Given the description of an element on the screen output the (x, y) to click on. 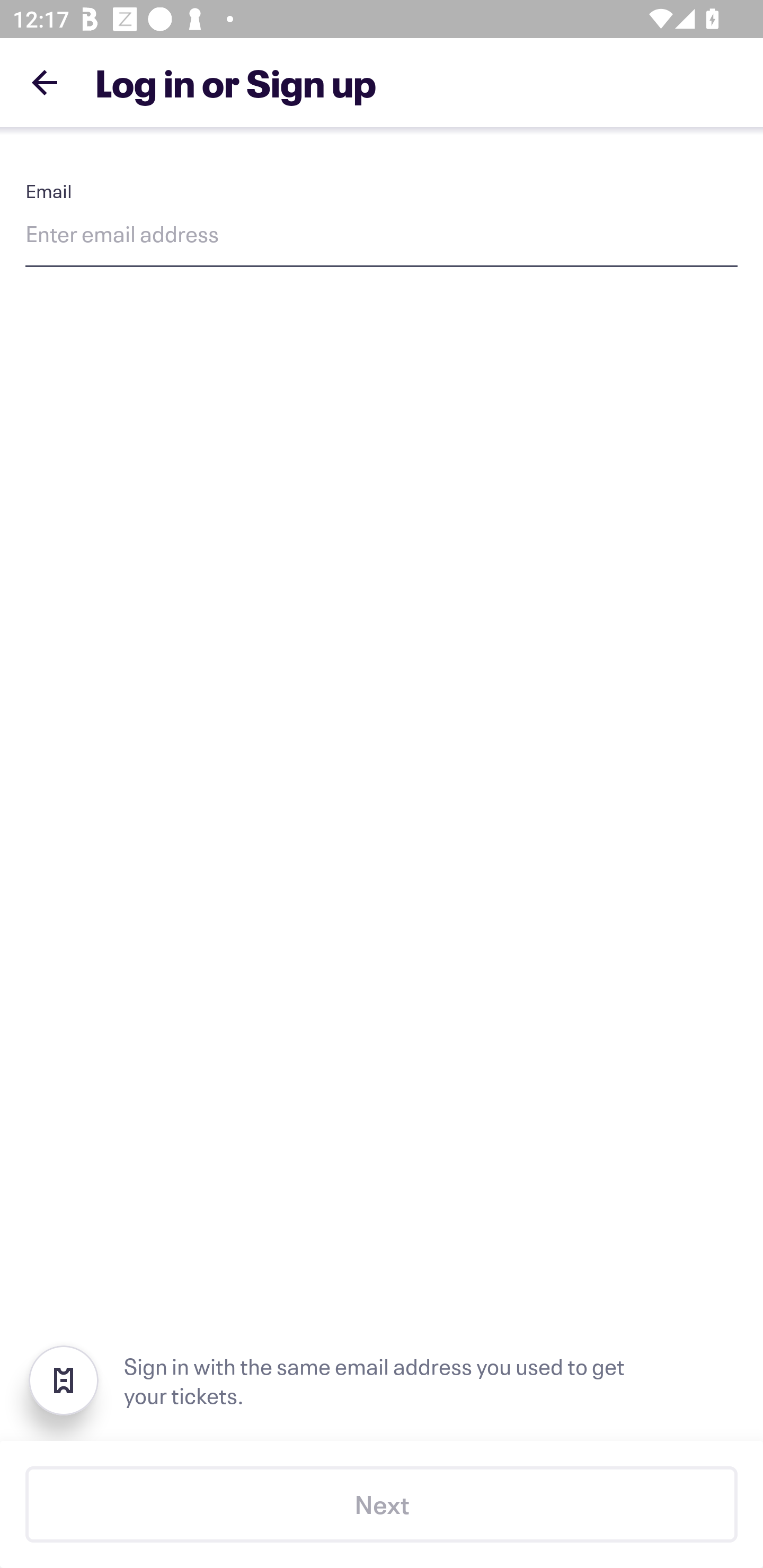
Navigate up (44, 82)
Enter email address (381, 237)
Next (381, 1504)
